Given the description of an element on the screen output the (x, y) to click on. 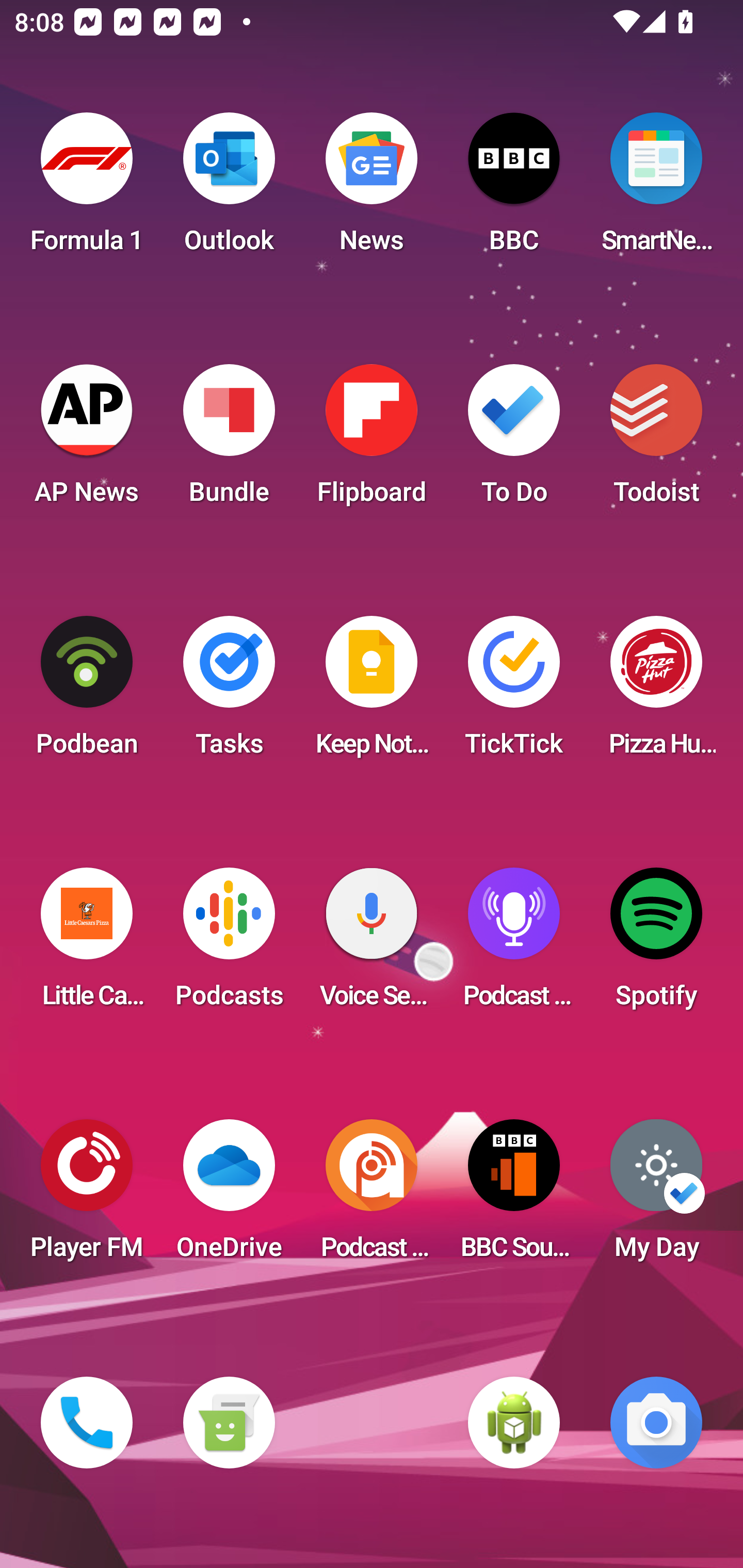
Formula 1 (86, 188)
Outlook (228, 188)
News (371, 188)
BBC (513, 188)
SmartNews (656, 188)
AP News (86, 440)
Bundle (228, 440)
Flipboard (371, 440)
To Do (513, 440)
Todoist (656, 440)
Podbean (86, 692)
Tasks (228, 692)
Keep Notes (371, 692)
TickTick (513, 692)
Pizza Hut HK & Macau (656, 692)
Little Caesars Pizza (86, 943)
Podcasts (228, 943)
Voice Search (371, 943)
Podcast Player (513, 943)
Spotify (656, 943)
Player FM (86, 1195)
OneDrive (228, 1195)
Podcast Addict (371, 1195)
BBC Sounds (513, 1195)
My Day (656, 1195)
Phone (86, 1422)
Messaging (228, 1422)
WebView Browser Tester (513, 1422)
Camera (656, 1422)
